Given the description of an element on the screen output the (x, y) to click on. 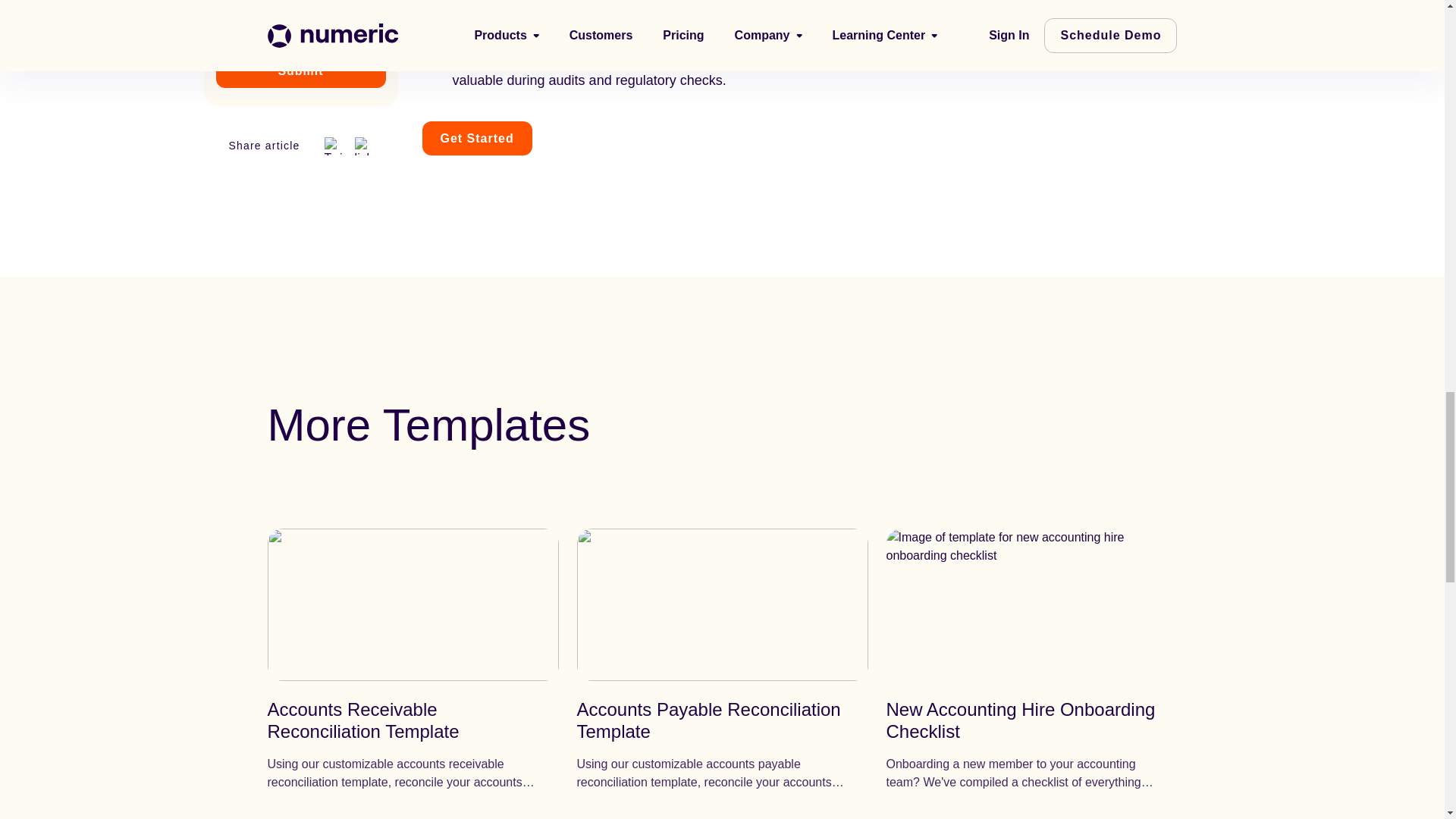
Get Started (476, 138)
